Given the description of an element on the screen output the (x, y) to click on. 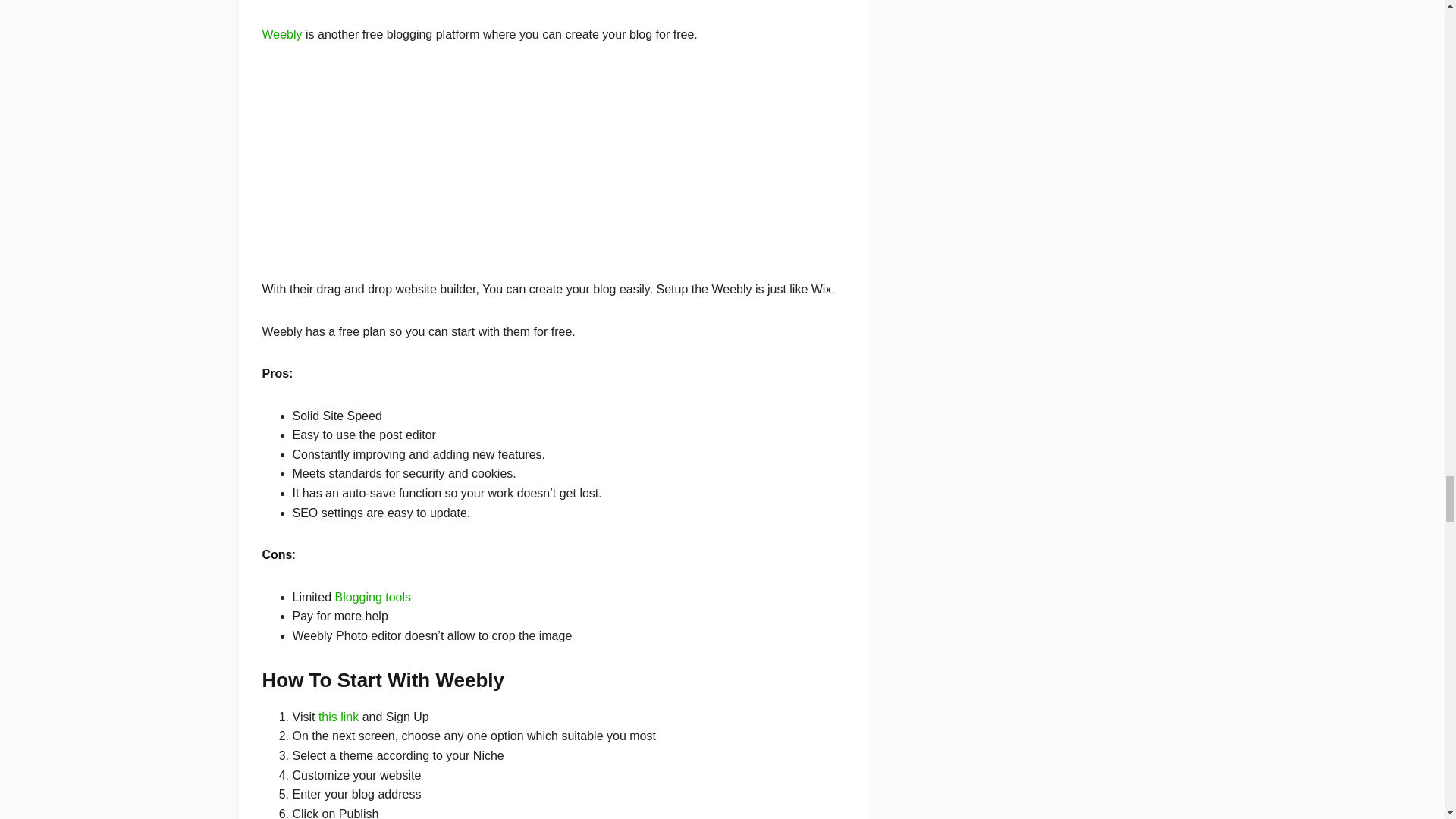
Blogging tools (373, 596)
this link (338, 716)
Weebly (282, 33)
